Given the description of an element on the screen output the (x, y) to click on. 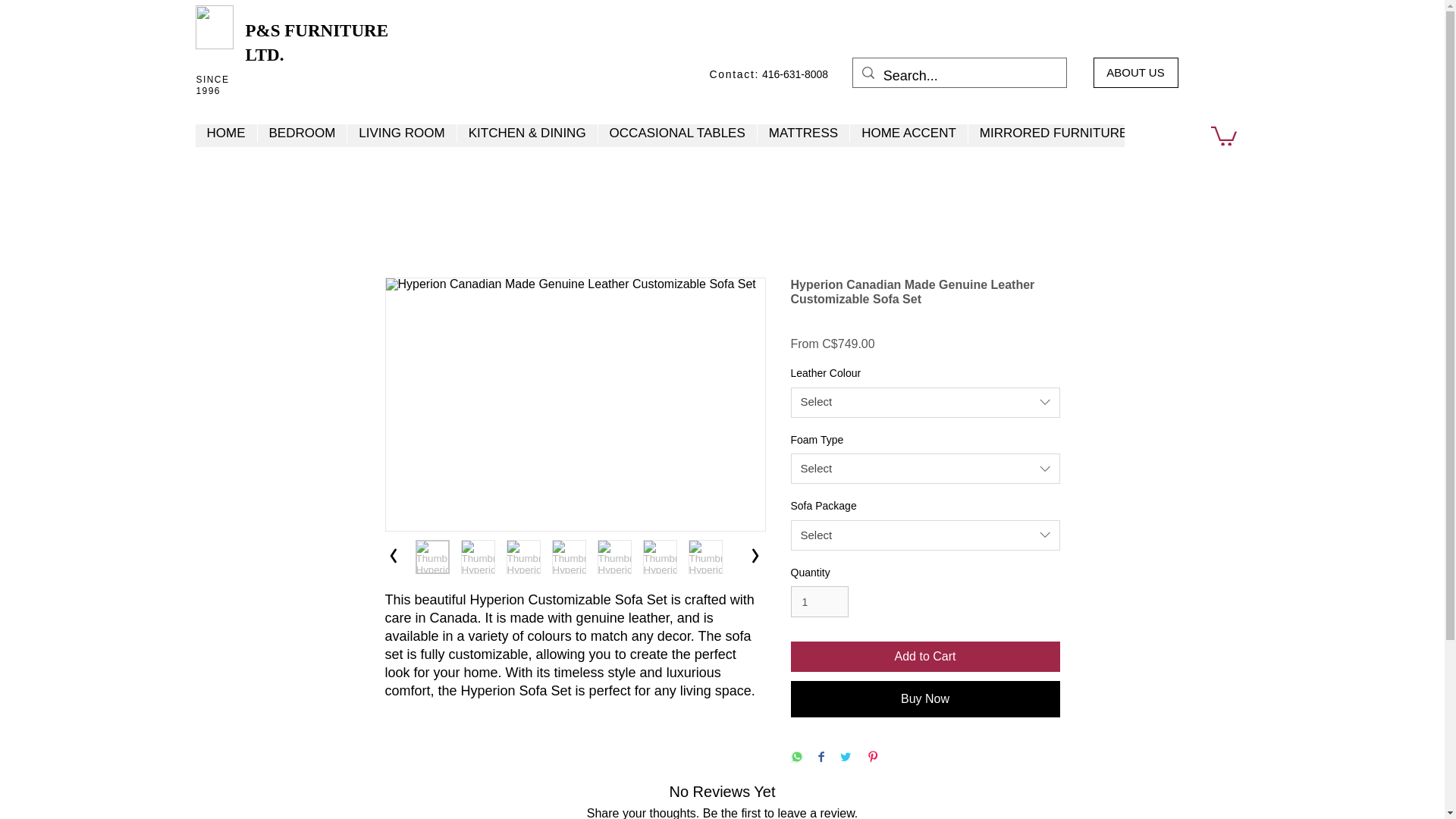
HOME (226, 135)
ABOUT US (1135, 72)
LIVING ROOM (400, 135)
1 (818, 601)
HOME ACCENT (908, 135)
BEDROOM (301, 135)
OCCASIONAL TABLES (676, 135)
MATTRESS (802, 135)
